Given the description of an element on the screen output the (x, y) to click on. 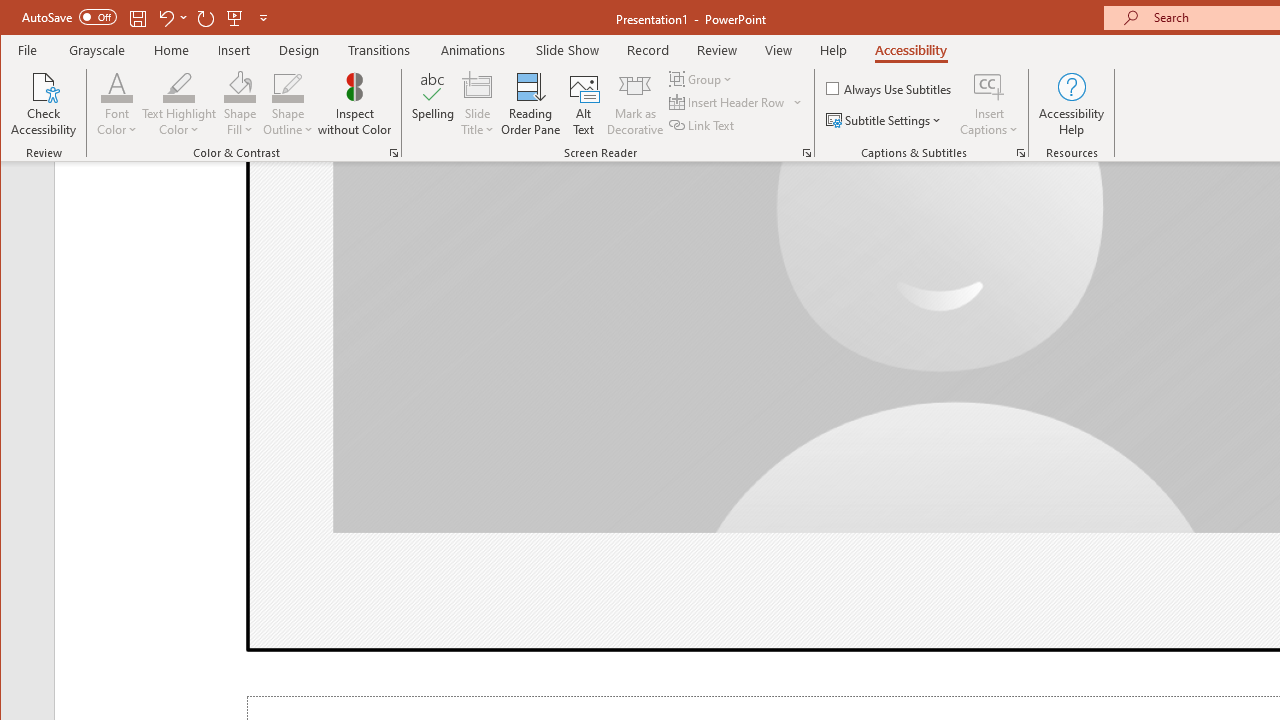
Link Text (703, 124)
Always Use Subtitles (890, 88)
Inspect without Color (355, 104)
Color & Contrast (393, 152)
Mark as Decorative (635, 104)
Accessibility Help (1071, 104)
